Given the description of an element on the screen output the (x, y) to click on. 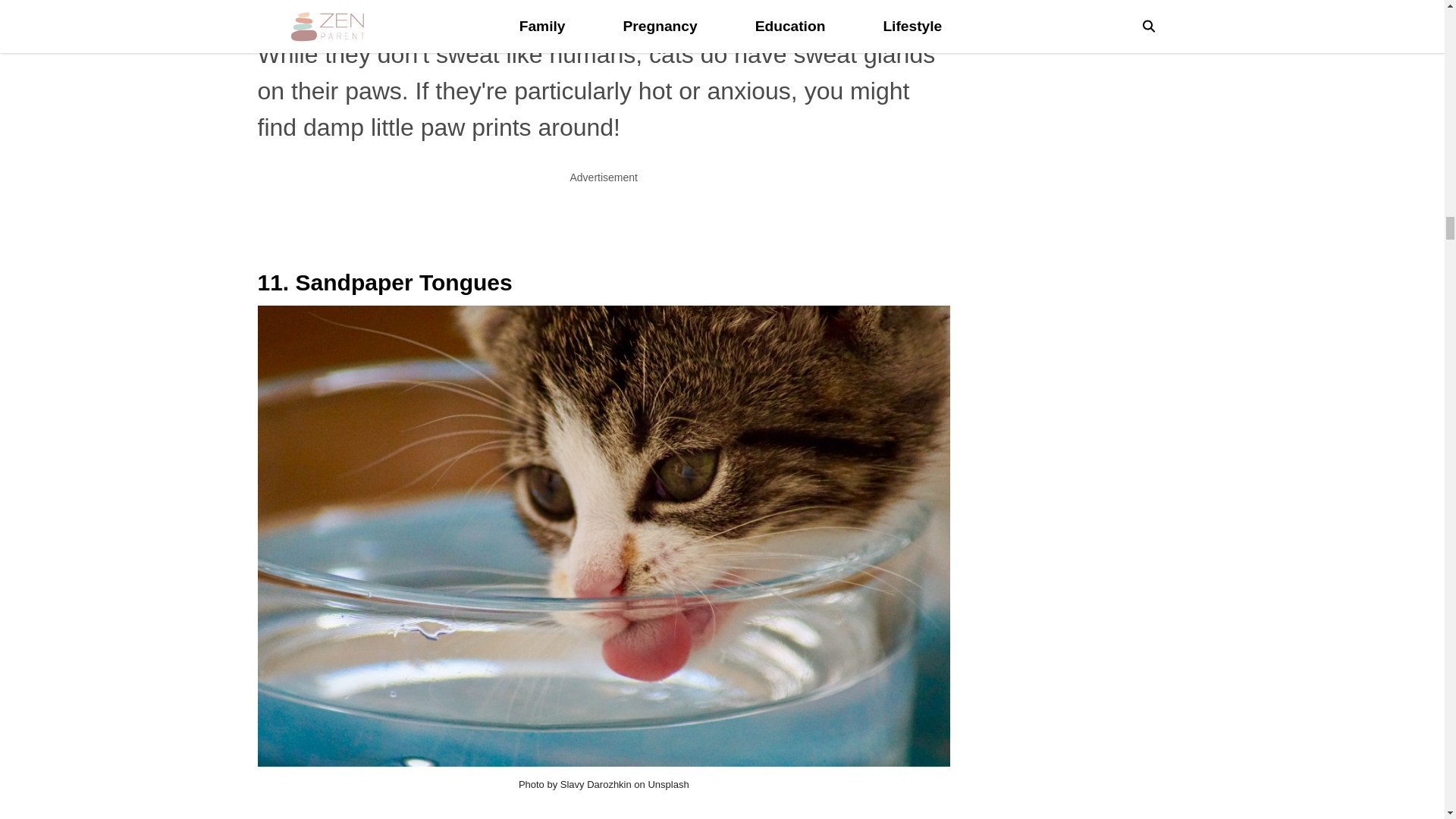
Photo by Anh Tuan To on Unsplash (604, 4)
Photo by Slavy Darozhkin on Unsplash (603, 784)
